Given the description of an element on the screen output the (x, y) to click on. 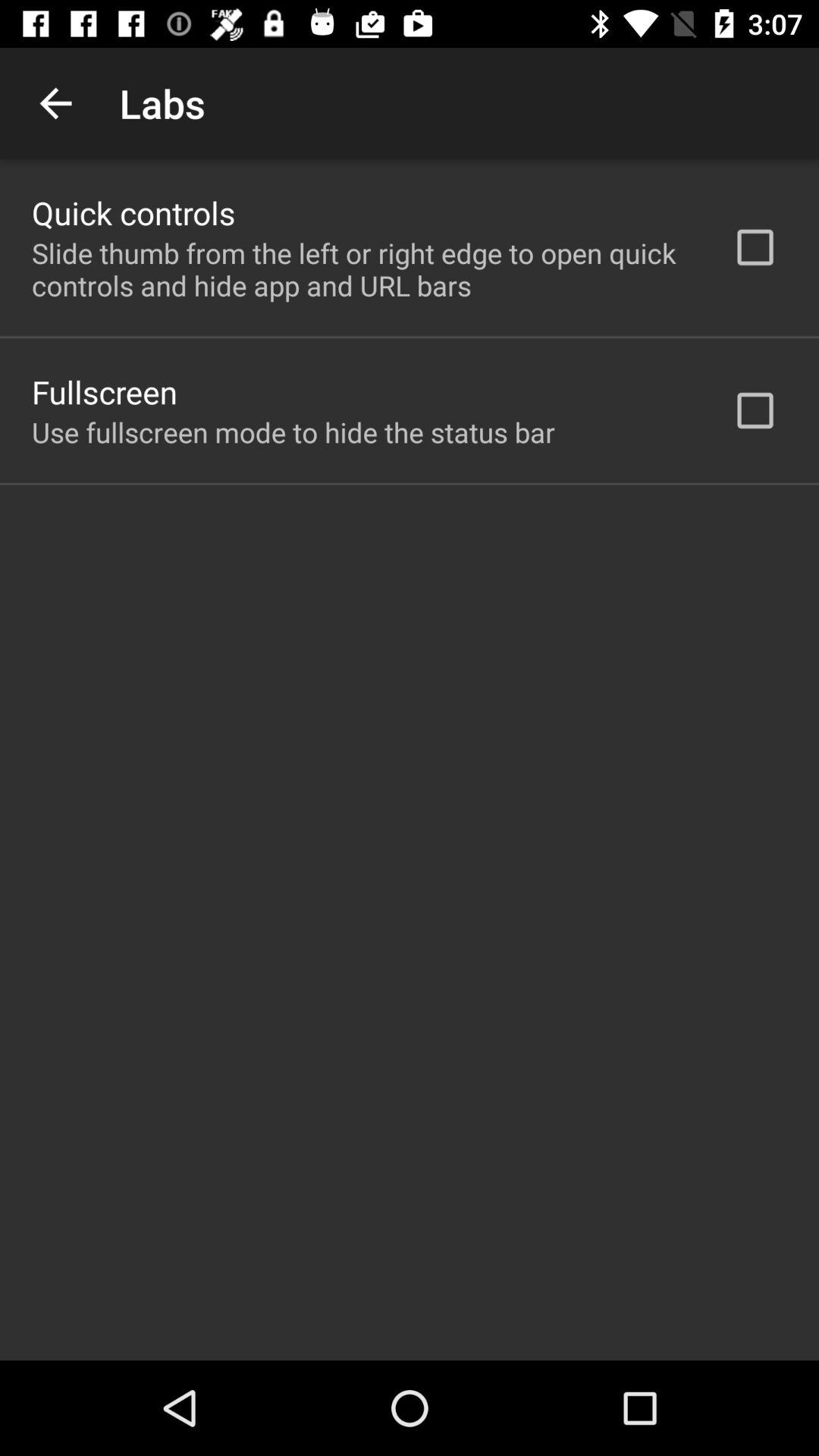
swipe until slide thumb from app (361, 269)
